Given the description of an element on the screen output the (x, y) to click on. 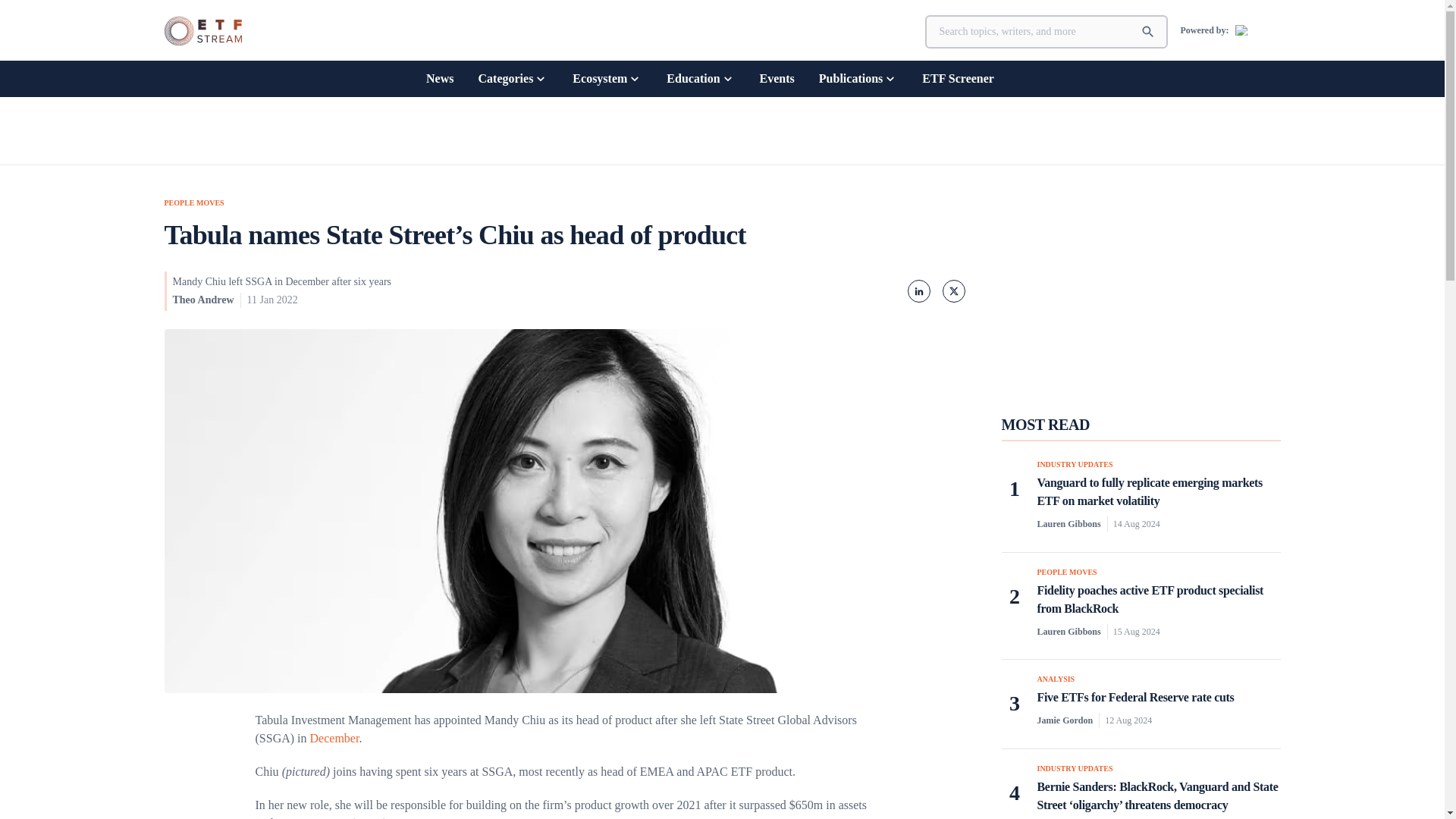
Theo Andrew (203, 299)
ETF Screener (957, 78)
News (439, 78)
Events (777, 78)
December (334, 738)
Education (700, 78)
